Given the description of an element on the screen output the (x, y) to click on. 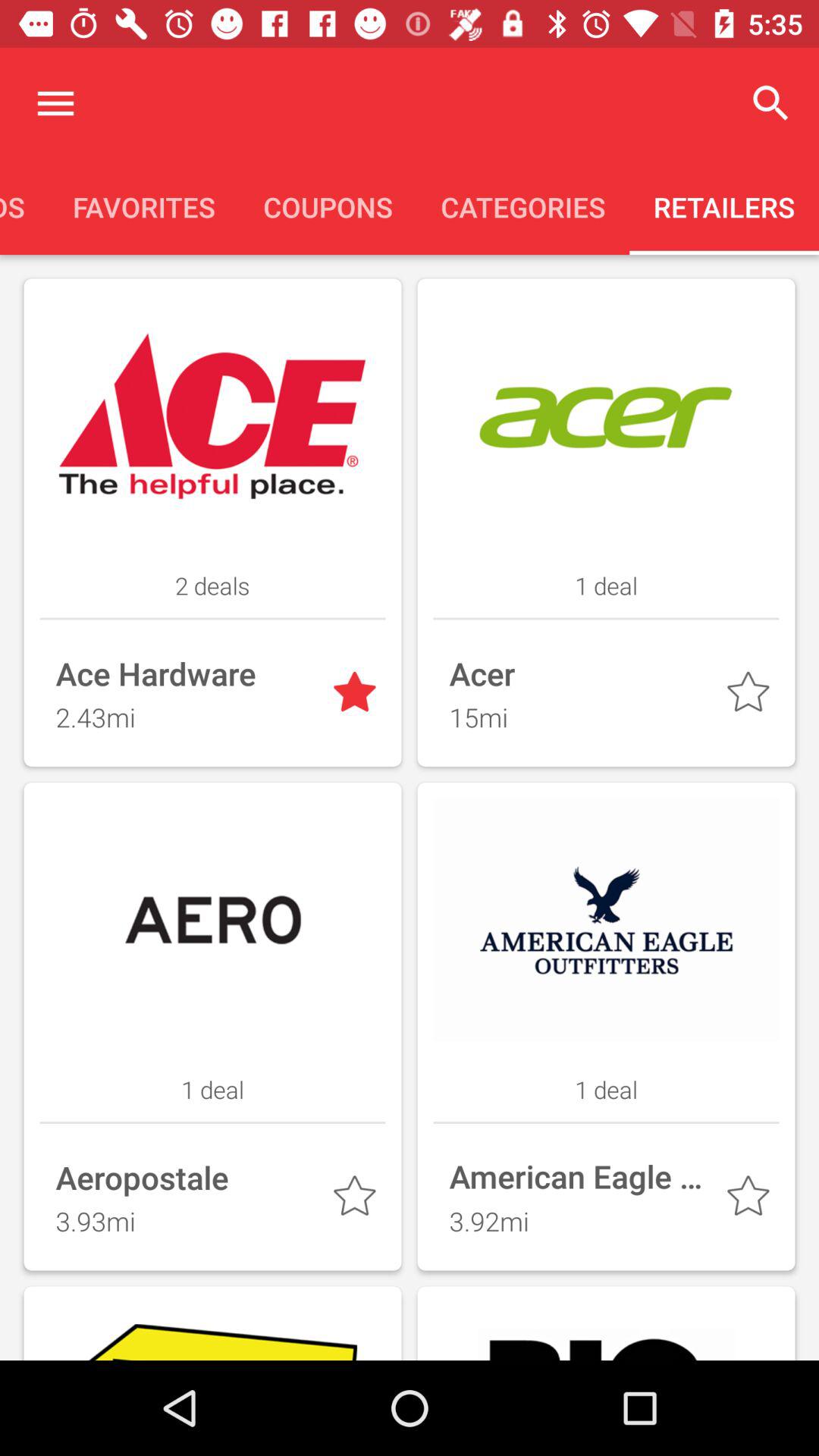
bookmark (751, 1199)
